Given the description of an element on the screen output the (x, y) to click on. 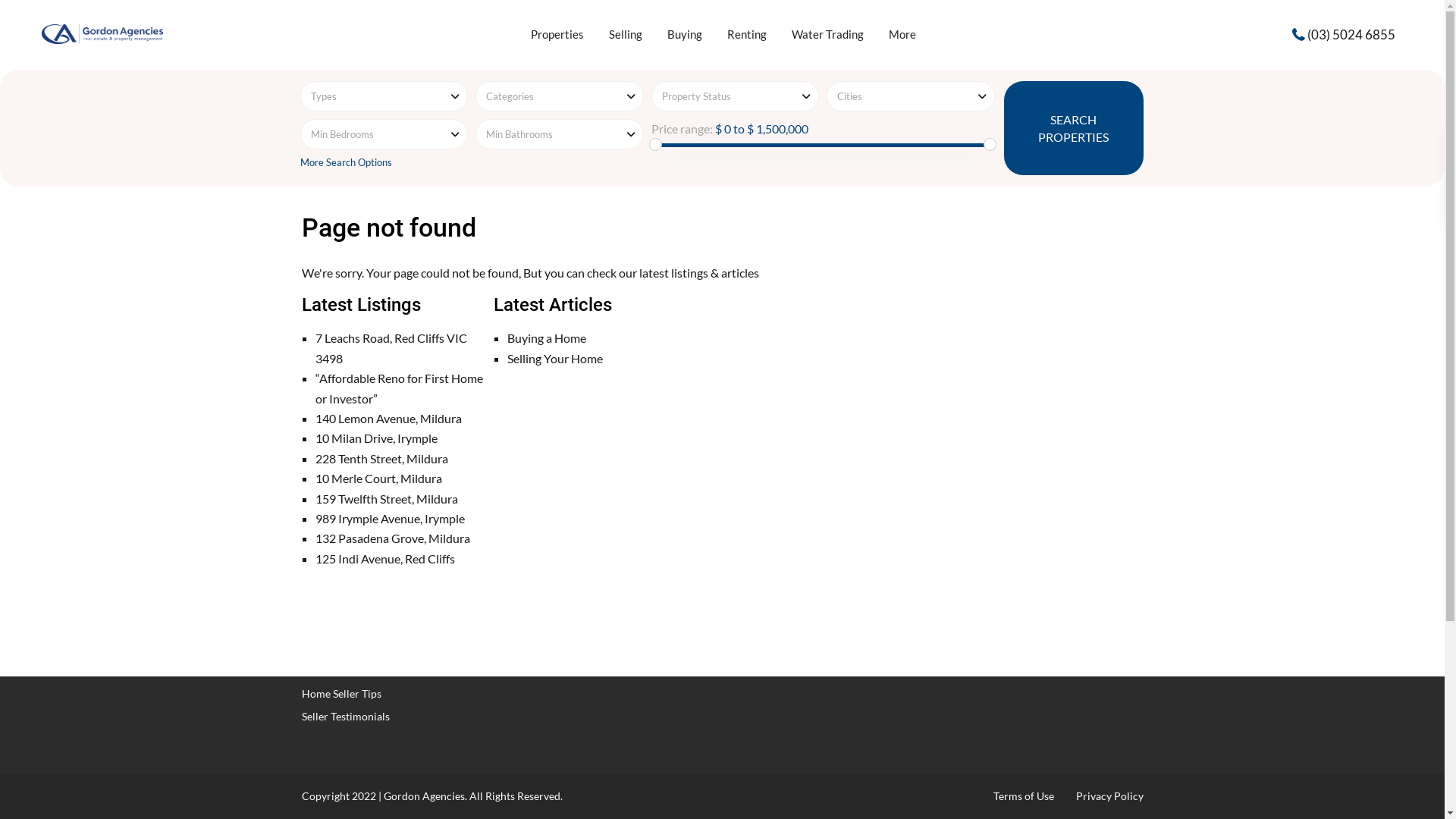
125 Indi Avenue, Red Cliffs Element type: text (385, 558)
Terms of Use Element type: text (1023, 795)
Buying a Home Element type: text (546, 337)
989 Irymple Avenue, Irymple Element type: text (389, 518)
228 Tenth Street, Mildura Element type: text (381, 458)
Maintenance Request Element type: text (567, 592)
Why Gordon Agencies? Element type: text (356, 624)
Privacy Policy Element type: text (1108, 795)
Becoming a new Landlord Element type: text (577, 615)
Seller Testimonials Element type: text (345, 715)
Tips on Buying a Home Element type: text (355, 547)
Free Market Appraisal Element type: text (354, 670)
Selling Element type: text (625, 34)
10 Merle Court, Mildura Element type: text (378, 477)
Buying Element type: text (684, 34)
140 Lemon Avenue, Mildura Element type: text (388, 418)
Selling with Gordon Agencies Element type: text (370, 647)
7 Leachs Road, Red Cliffs VIC 3498 Element type: text (391, 347)
Properties Element type: text (557, 34)
132 Pasadena Grove, Mildura Element type: text (392, 537)
SEARCH PROPERTIES Element type: text (1073, 128)
(03) 5024 6855 Element type: text (1351, 33)
Property Management Element type: text (570, 547)
admin@gordonagencies.com.au Element type: text (828, 609)
Home Seller Tips Element type: text (341, 693)
Becoming a good renter Element type: text (573, 524)
Tenancy Application Element type: text (565, 570)
Residential Element type: text (327, 524)
10 Milan Drive, Irymple Element type: text (376, 437)
Renting Element type: text (746, 34)
Selling Your Home Element type: text (554, 358)
(03) 5024 6855 Element type: text (790, 564)
More Element type: text (902, 34)
159 Twelfth Street, Mildura Element type: text (386, 498)
Water Trading Element type: text (827, 34)
